Given the description of an element on the screen output the (x, y) to click on. 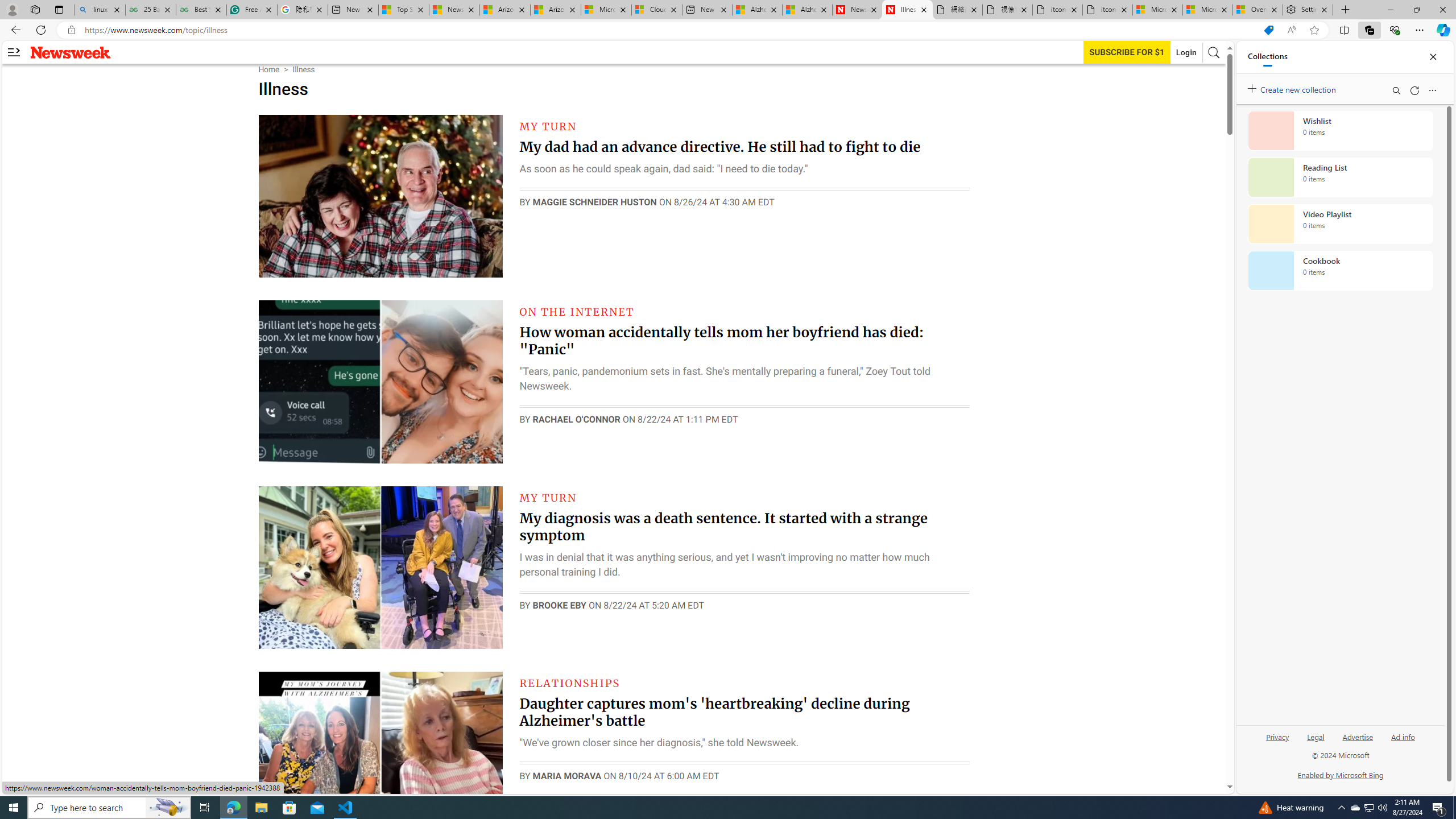
ON THE INTERNET (576, 312)
Illness news & latest pictures from Newsweek.com (907, 9)
Best SSL Certificates Provider in India - GeeksforGeeks (201, 9)
Newsweek - News, Analysis, Politics, Business, Technology (856, 9)
